Given the description of an element on the screen output the (x, y) to click on. 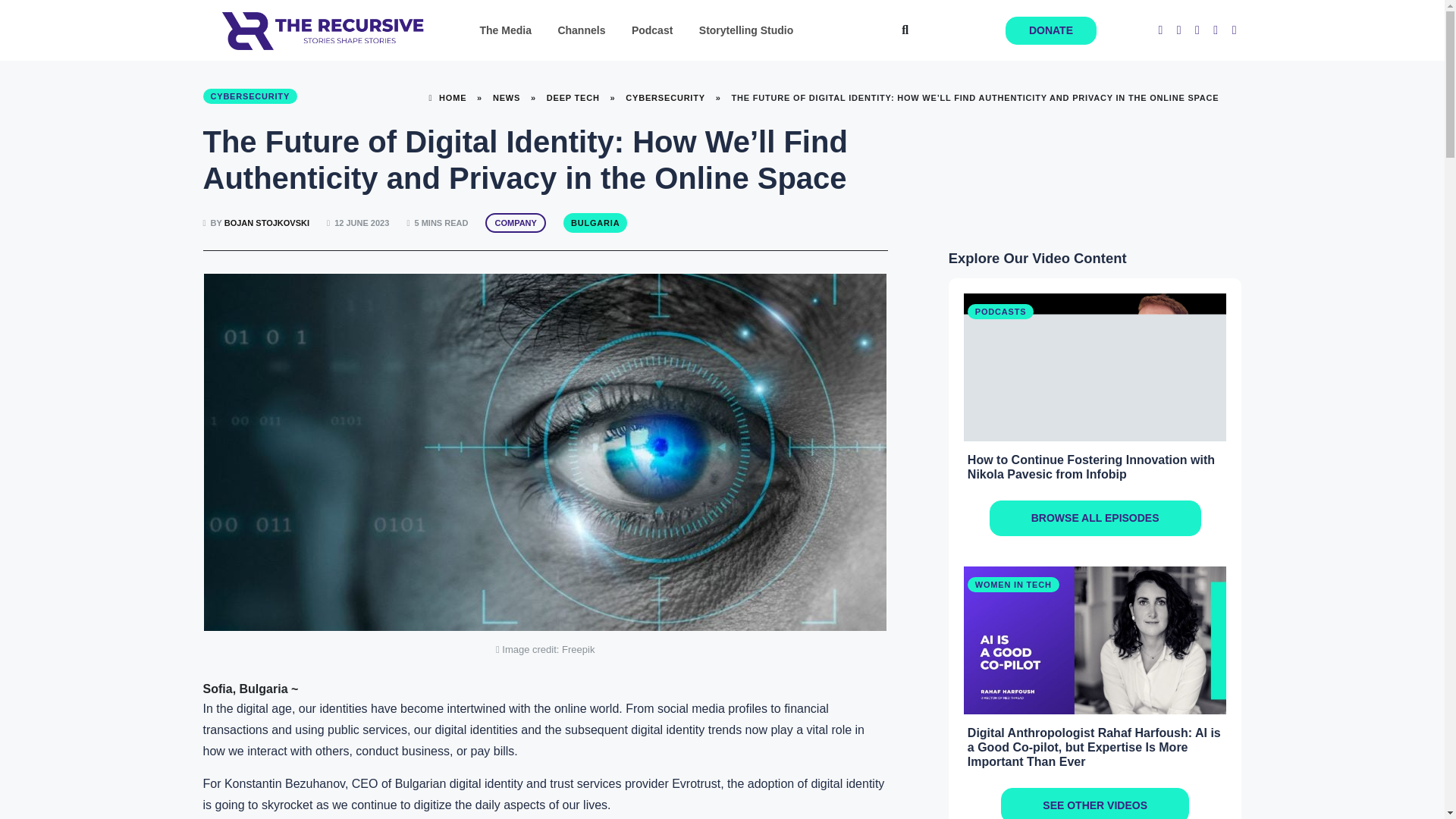
Podcast (651, 30)
DONATE (1051, 30)
Storytelling Studio (745, 30)
The Media (505, 30)
Channels (581, 30)
